Given the description of an element on the screen output the (x, y) to click on. 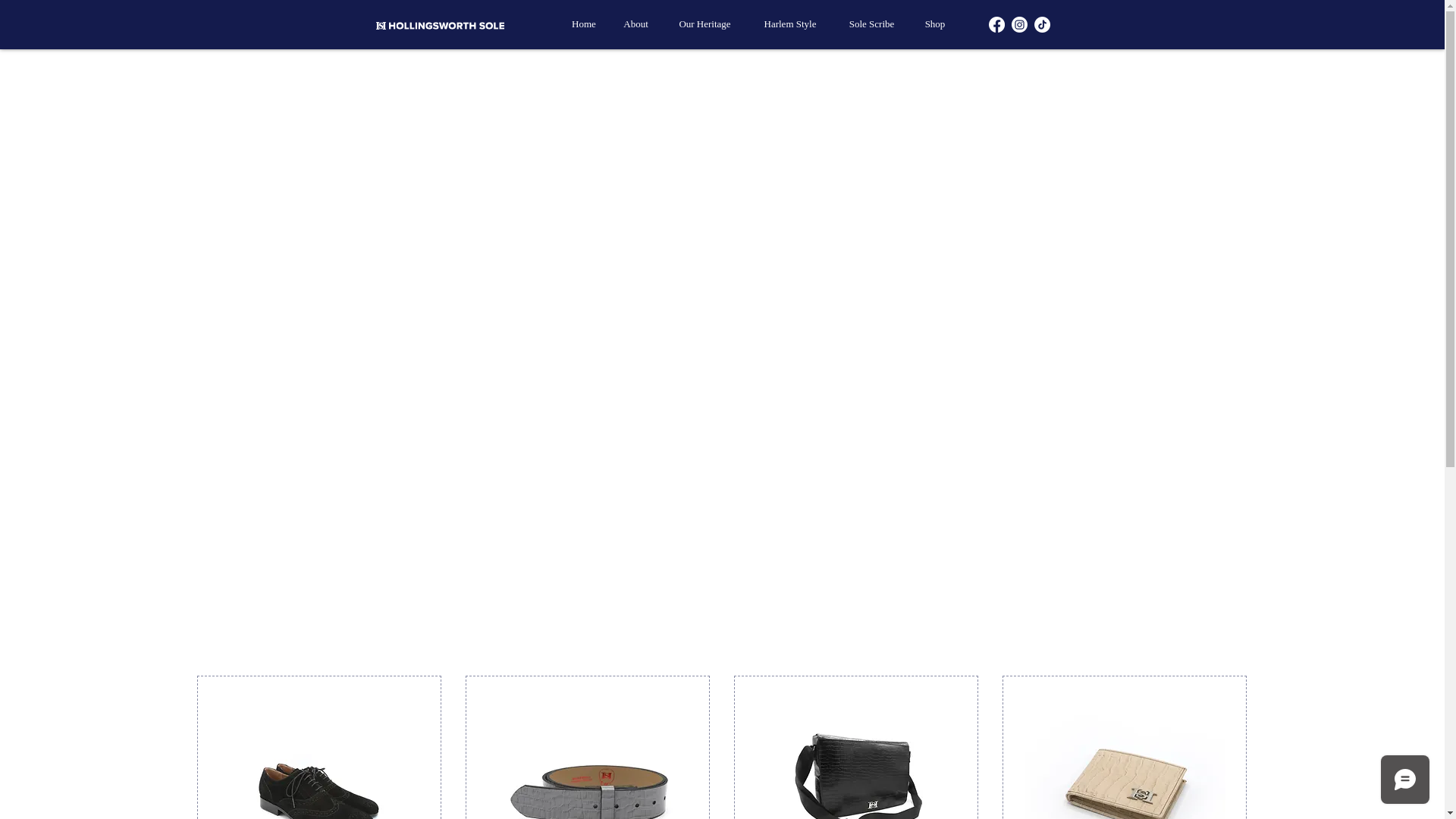
Harlem Style (790, 24)
About (636, 24)
Sole Scribe (871, 24)
Our Heritage (705, 24)
Home (583, 24)
Shop (935, 24)
